Given the description of an element on the screen output the (x, y) to click on. 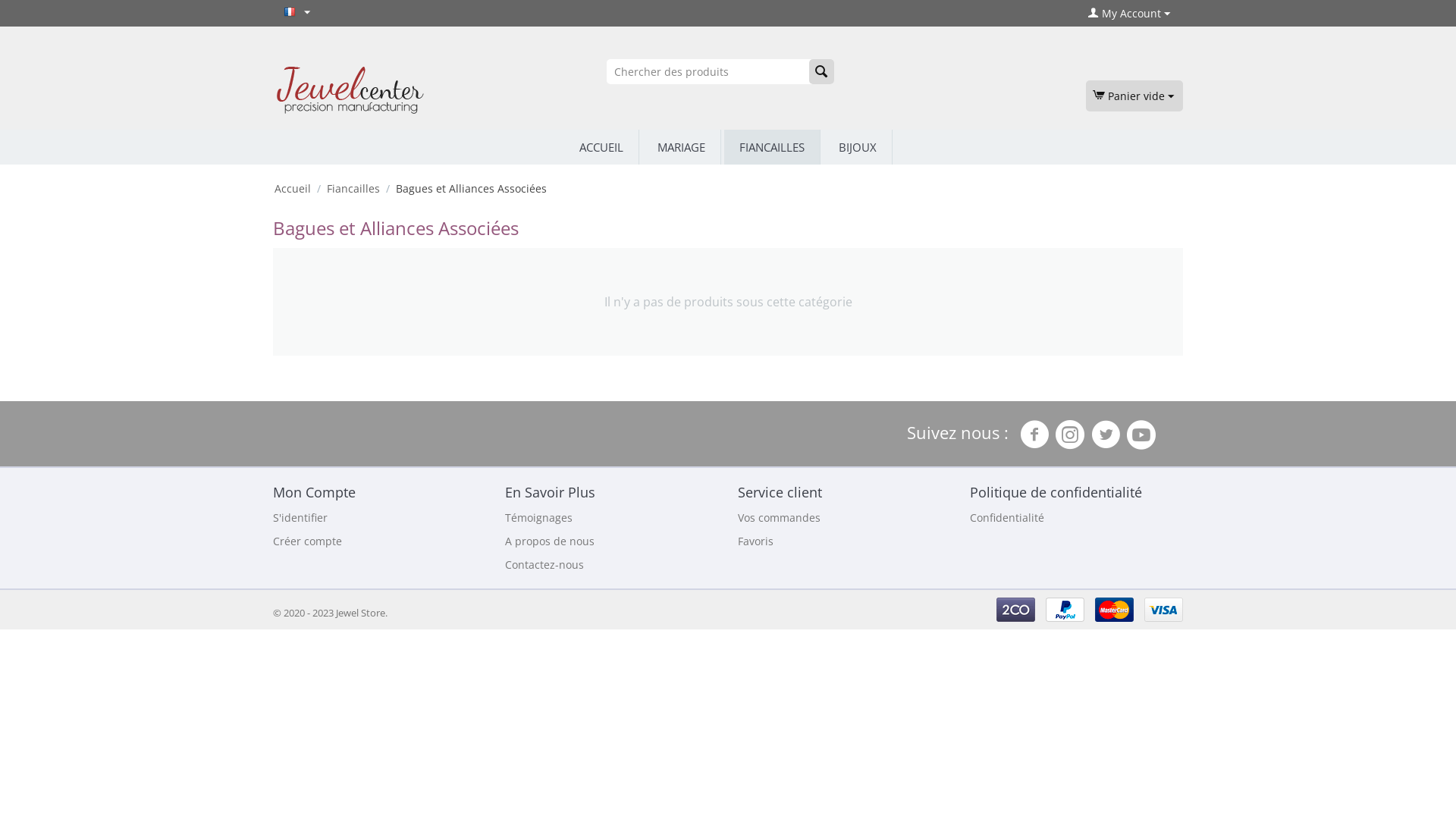
MARIAGE Element type: text (680, 146)
Accueil Element type: text (292, 188)
Contactez-nous Element type: text (544, 564)
A propos de nous Element type: text (549, 540)
Rechercher Element type: hover (821, 71)
Favoris Element type: text (755, 540)
Panier vide Element type: text (1132, 95)
S'identifier Element type: text (300, 517)
FIANCAILLES Element type: text (771, 146)
ACCUEIL Element type: text (601, 146)
Chercher des produits Element type: hover (720, 71)
BIJOUX Element type: text (857, 146)
Fiancailles Element type: text (353, 188)
 My Account Element type: text (1128, 13)
Vos commandes Element type: text (778, 517)
